Given the description of an element on the screen output the (x, y) to click on. 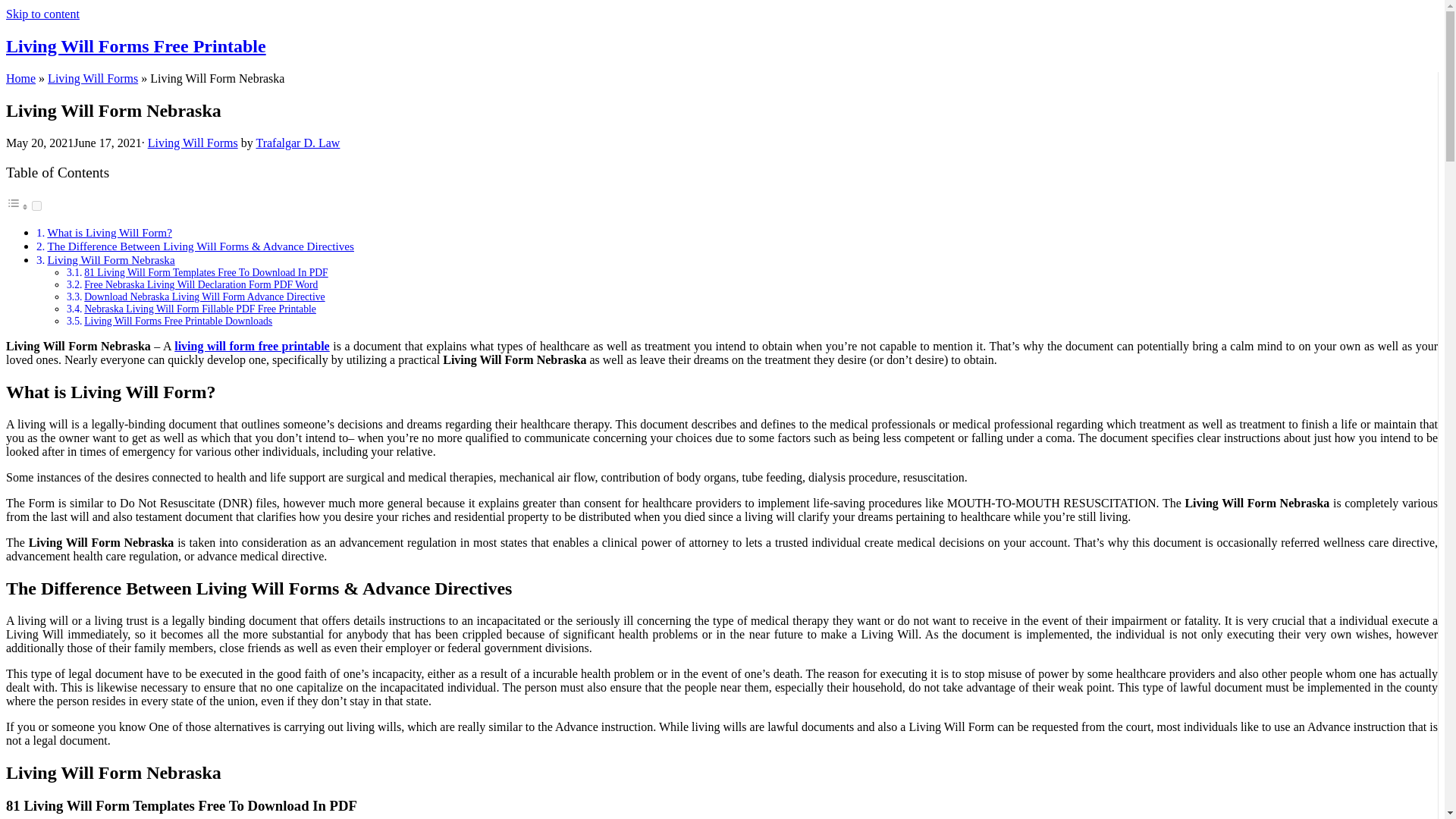
Living Will Form Nebraska (110, 259)
81 Living Will Form Templates Free To Download In PDF (205, 272)
Download Nebraska Living Will Form Advance Directive (204, 296)
Nebraska Living Will Form Fillable PDF Free Printable (199, 308)
Free Nebraska Living Will Declaration Form PDF Word (200, 284)
on (37, 205)
Trafalgar D. Law (297, 142)
Living Will Forms (93, 78)
81 Living Will Form Templates Free To Download In PDF (205, 272)
Nebraska Living Will Form Fillable PDF Free Printable (199, 308)
